Given the description of an element on the screen output the (x, y) to click on. 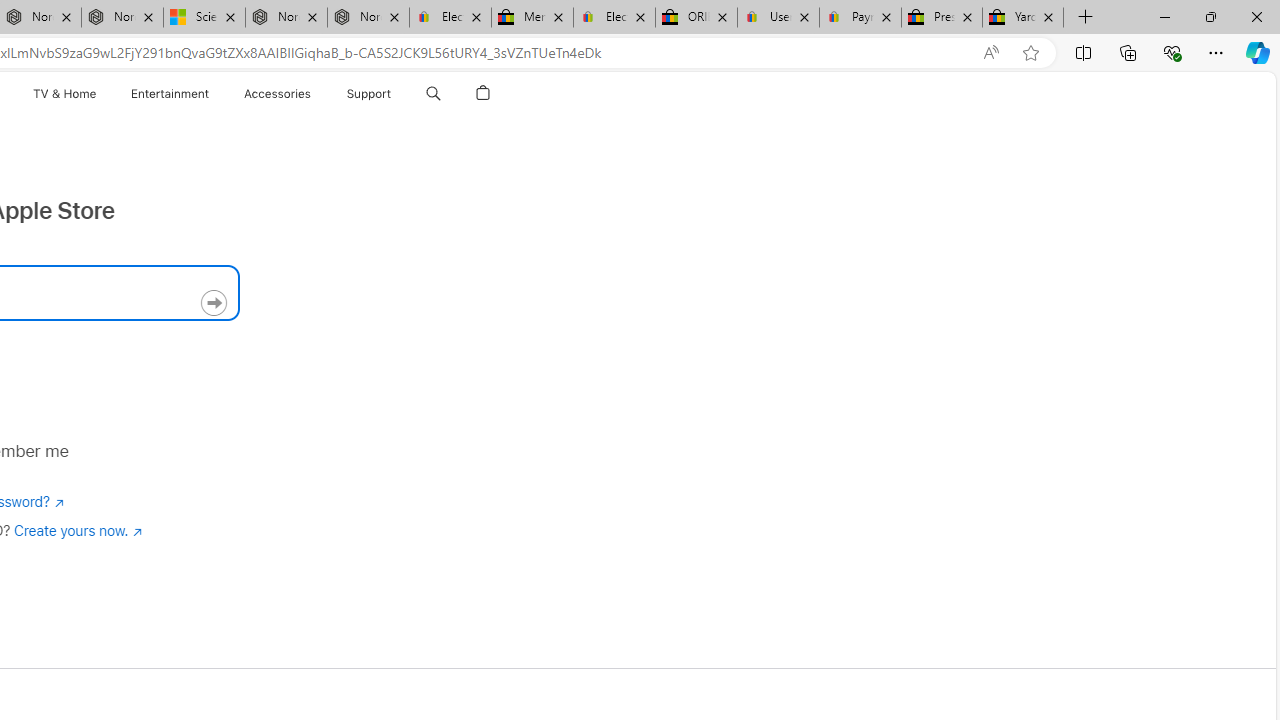
Shopping Bag (482, 93)
